Given the description of an element on the screen output the (x, y) to click on. 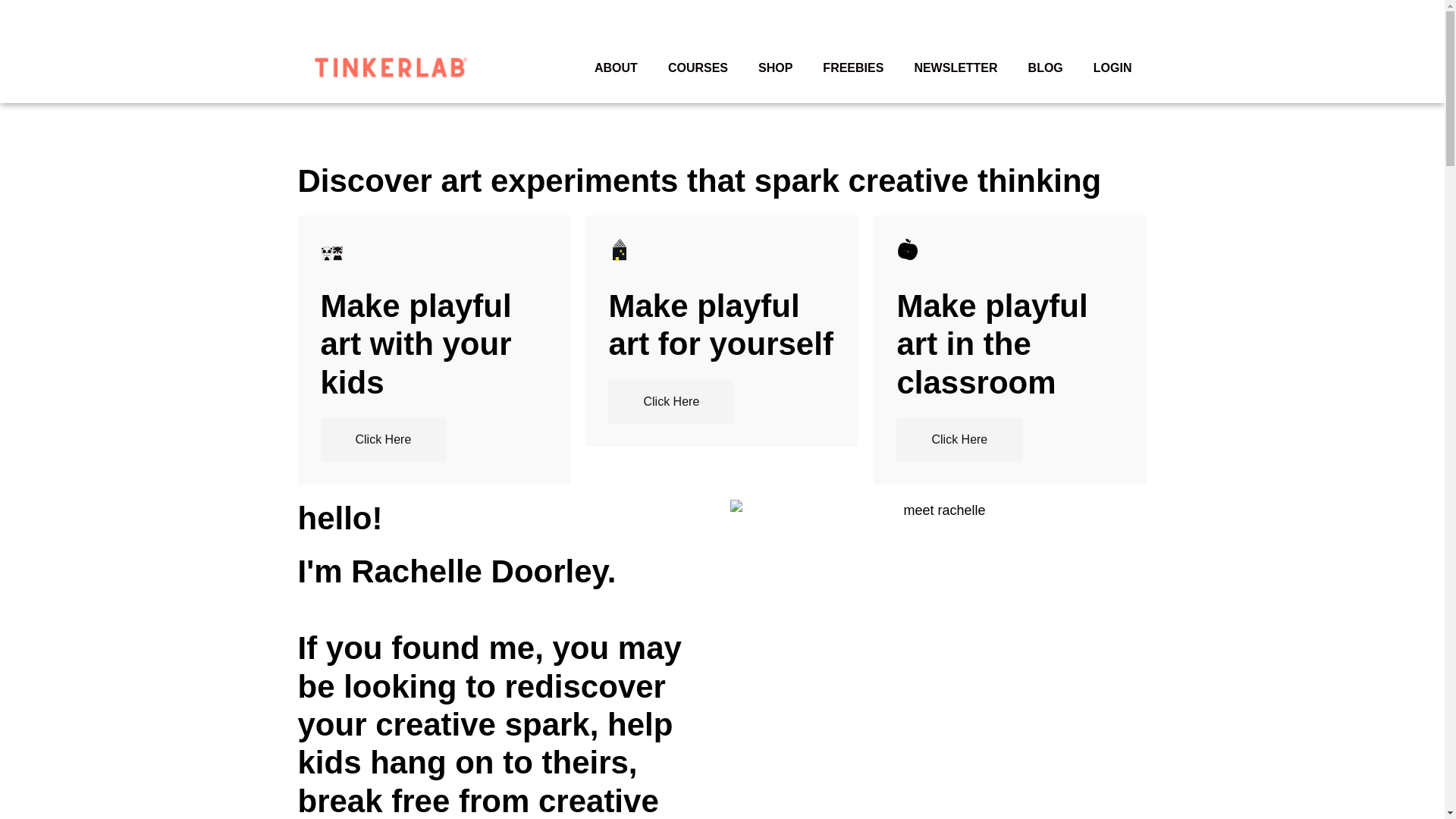
NEWSLETTER (954, 68)
Make playful art with your kids (433, 344)
FREEBIES (853, 68)
SHOP (775, 68)
ABOUT (615, 68)
BLOG (1045, 68)
COURSES (697, 68)
LOGIN (1112, 68)
Skip to content (15, 7)
Click Here (382, 439)
